Given the description of an element on the screen output the (x, y) to click on. 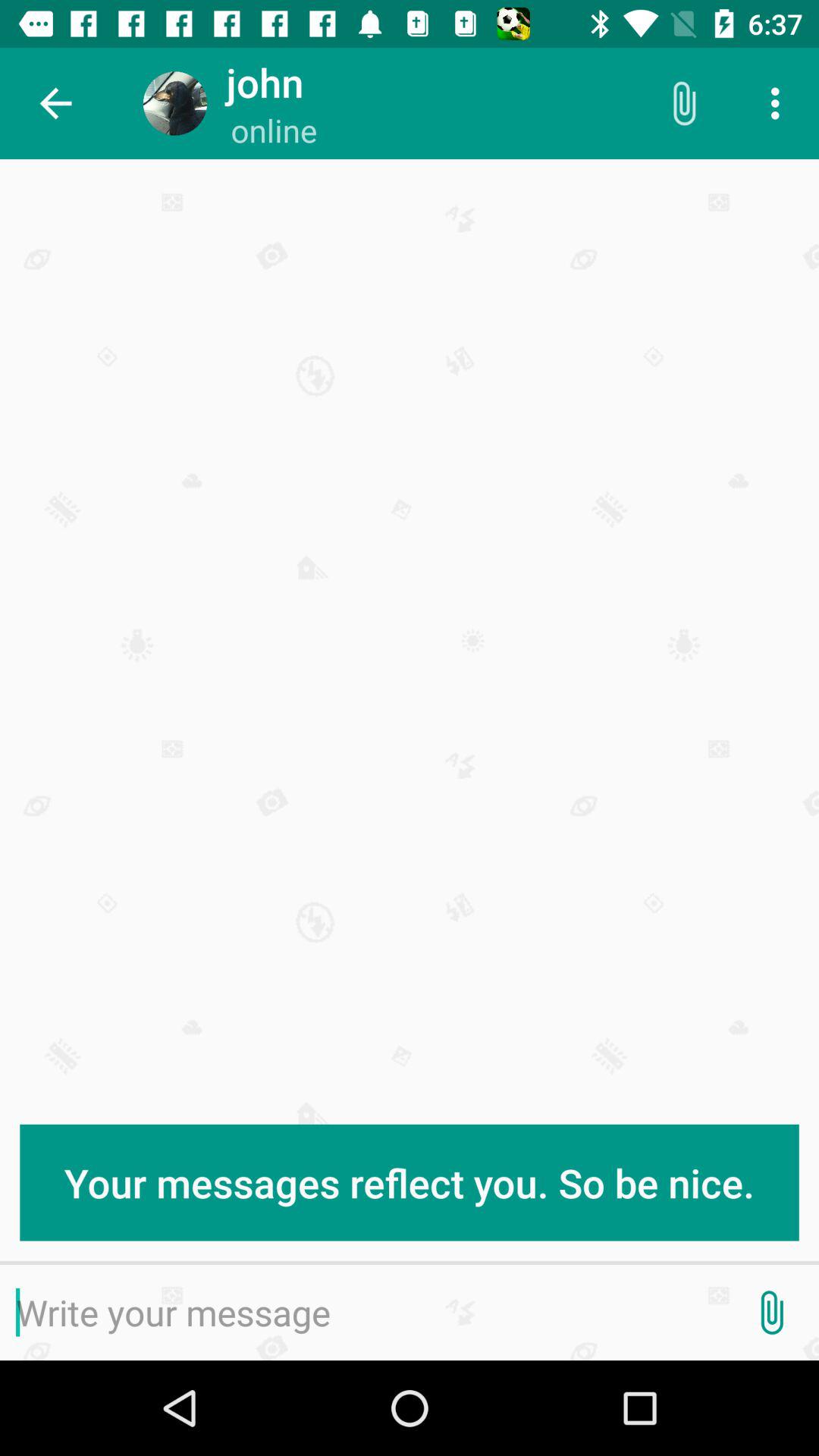
open the icon next to    online icon (683, 103)
